Given the description of an element on the screen output the (x, y) to click on. 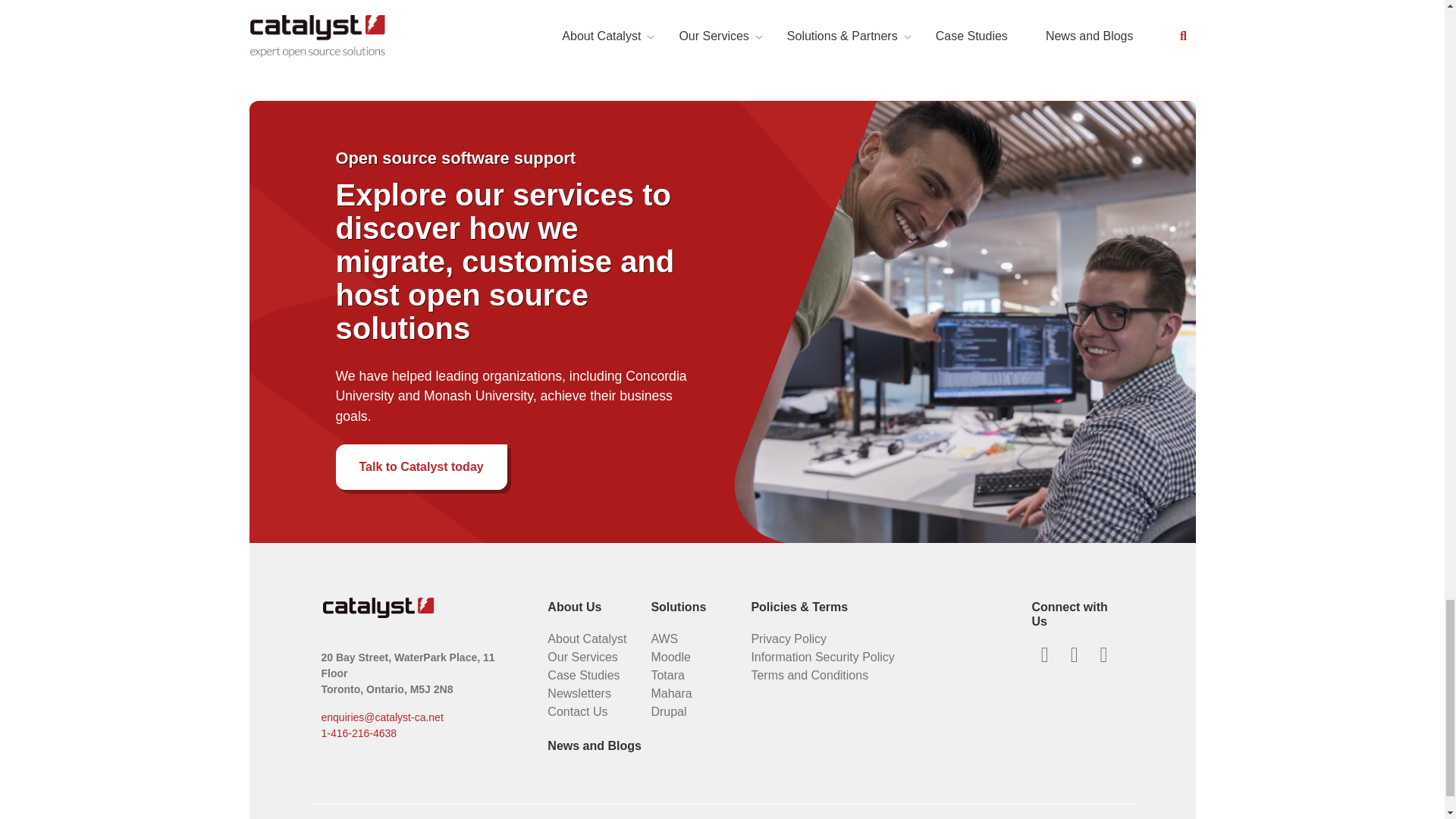
Twitter (1044, 654)
LinkedIn (1074, 654)
Youtube (1103, 654)
